Given the description of an element on the screen output the (x, y) to click on. 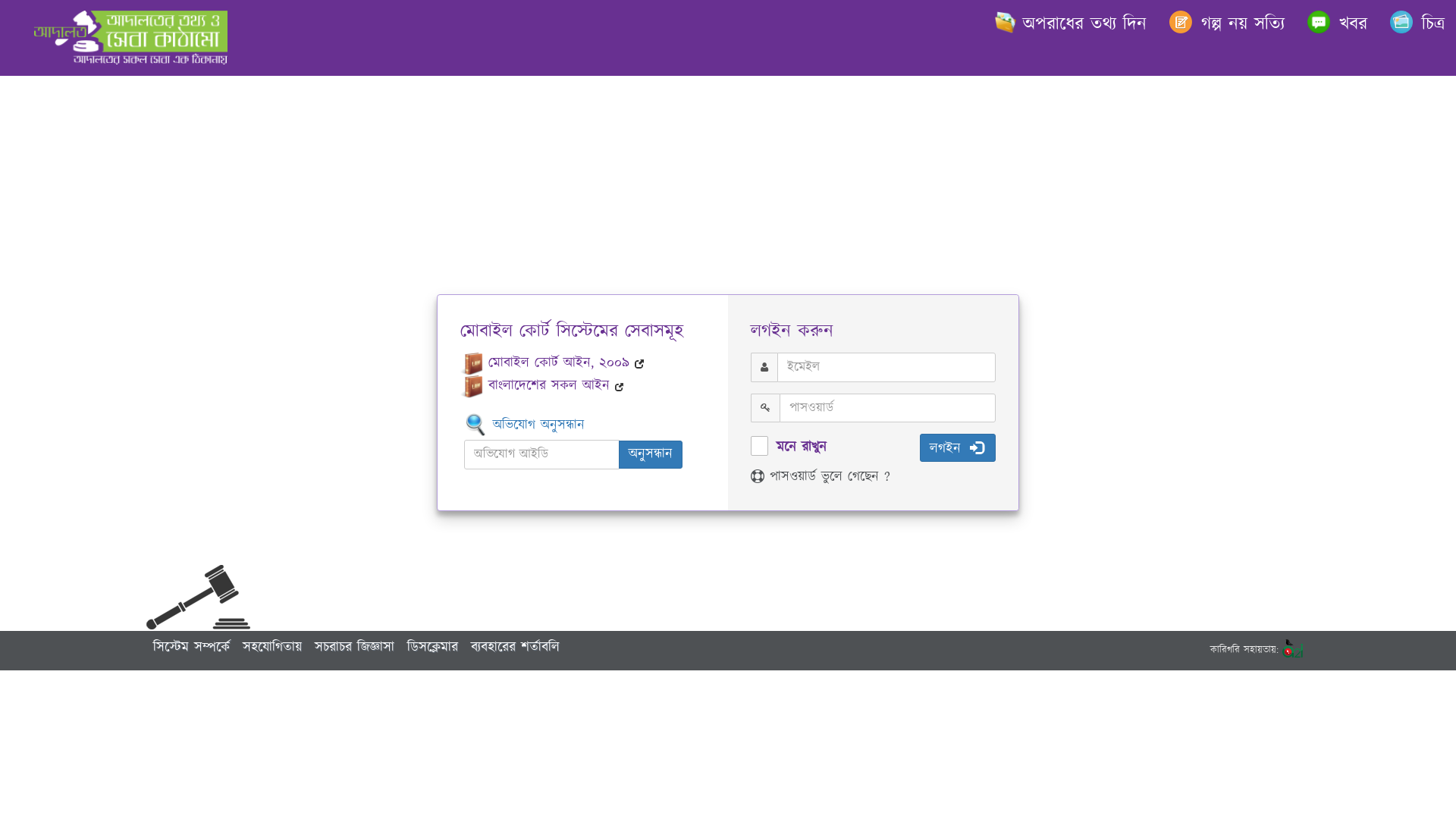
Opens in new window Element type: hover (640, 363)
Opens in new window Element type: hover (620, 386)
